Given the description of an element on the screen output the (x, y) to click on. 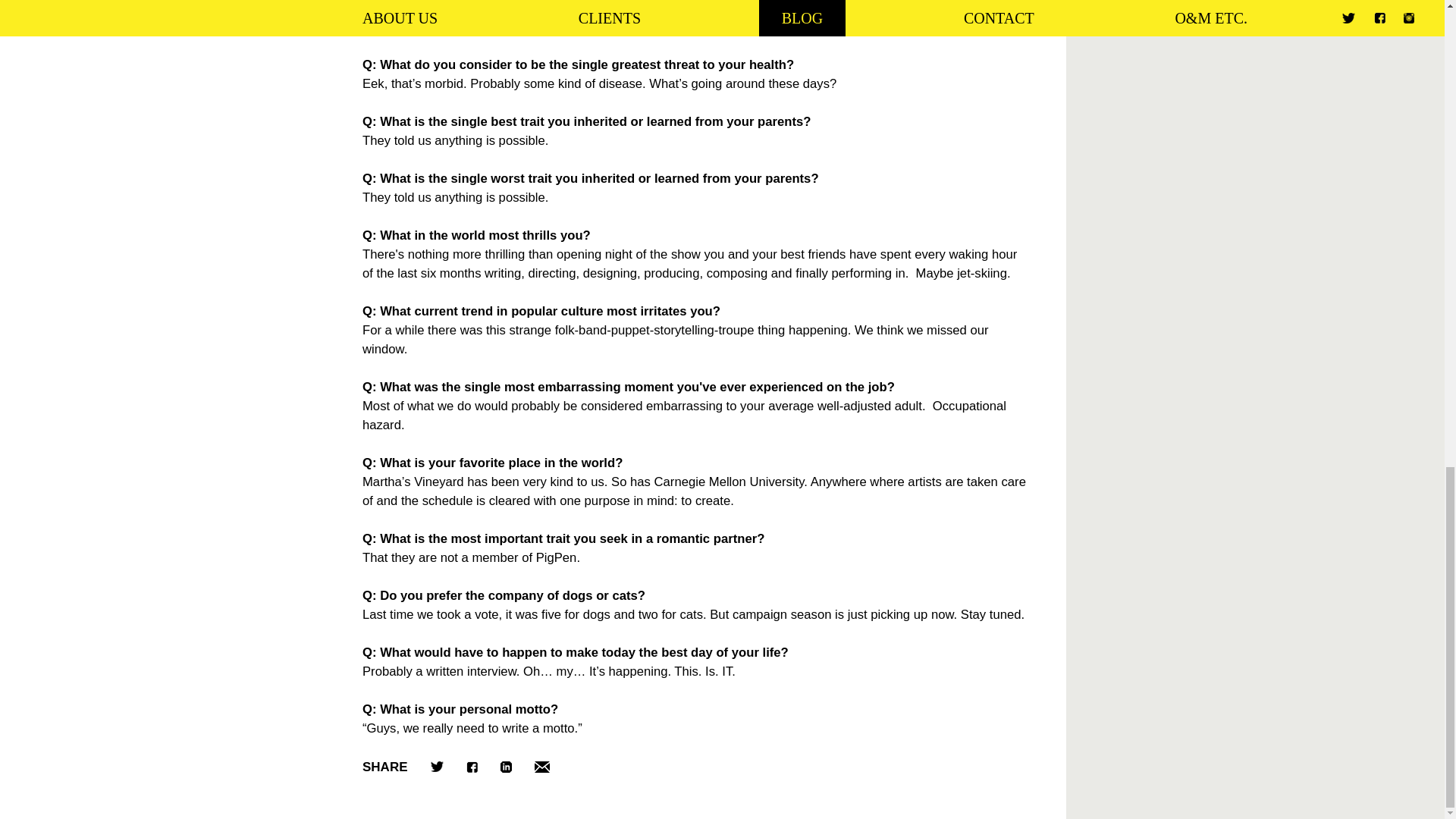
Facebook (471, 767)
Email (542, 767)
LinkedIn (506, 767)
Twitter (437, 766)
